Given the description of an element on the screen output the (x, y) to click on. 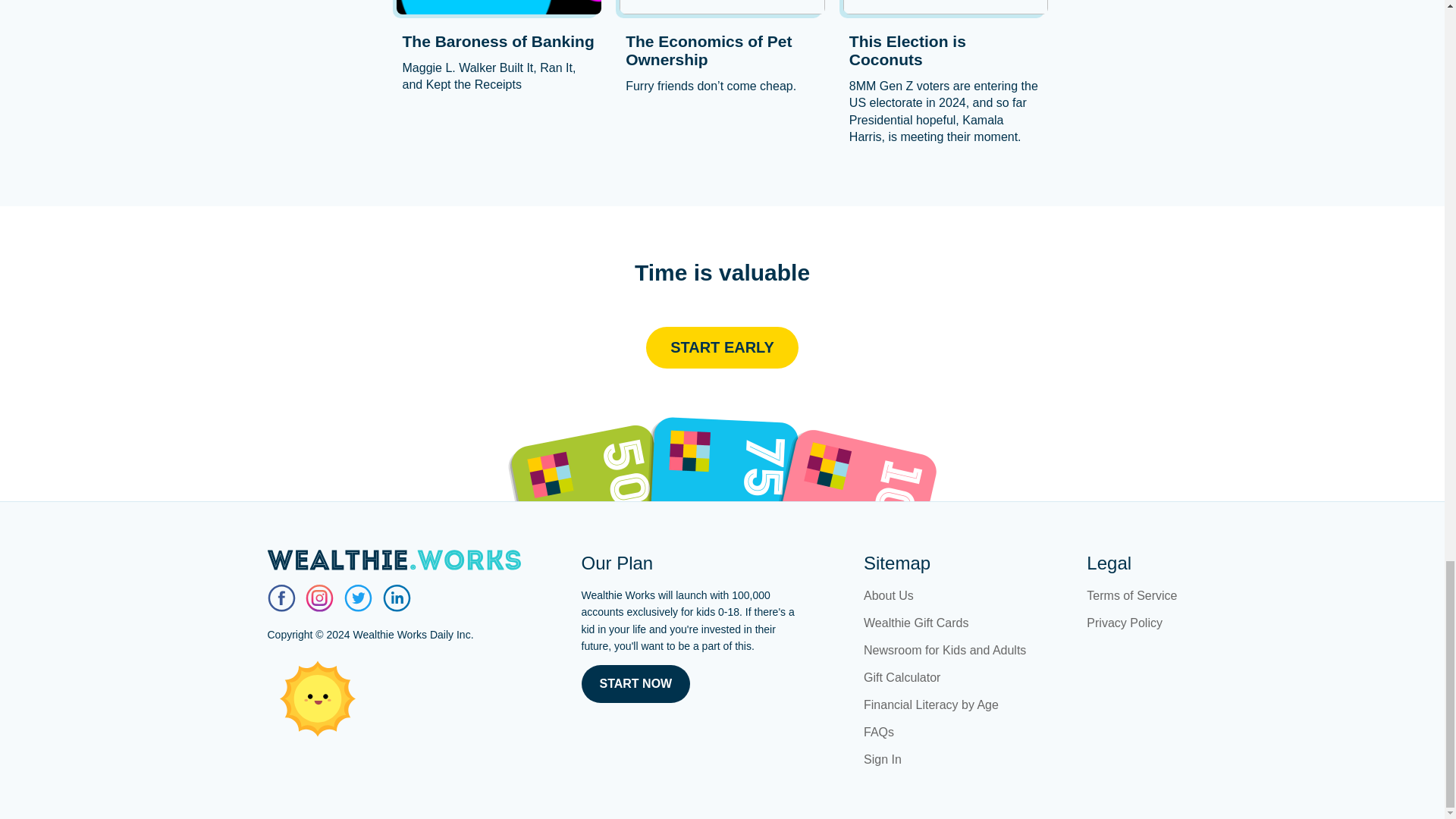
This Election is Coconuts (945, 50)
The Economics of Pet Ownership (722, 50)
The Baroness of Banking (498, 41)
START EARLY (721, 347)
